Given the description of an element on the screen output the (x, y) to click on. 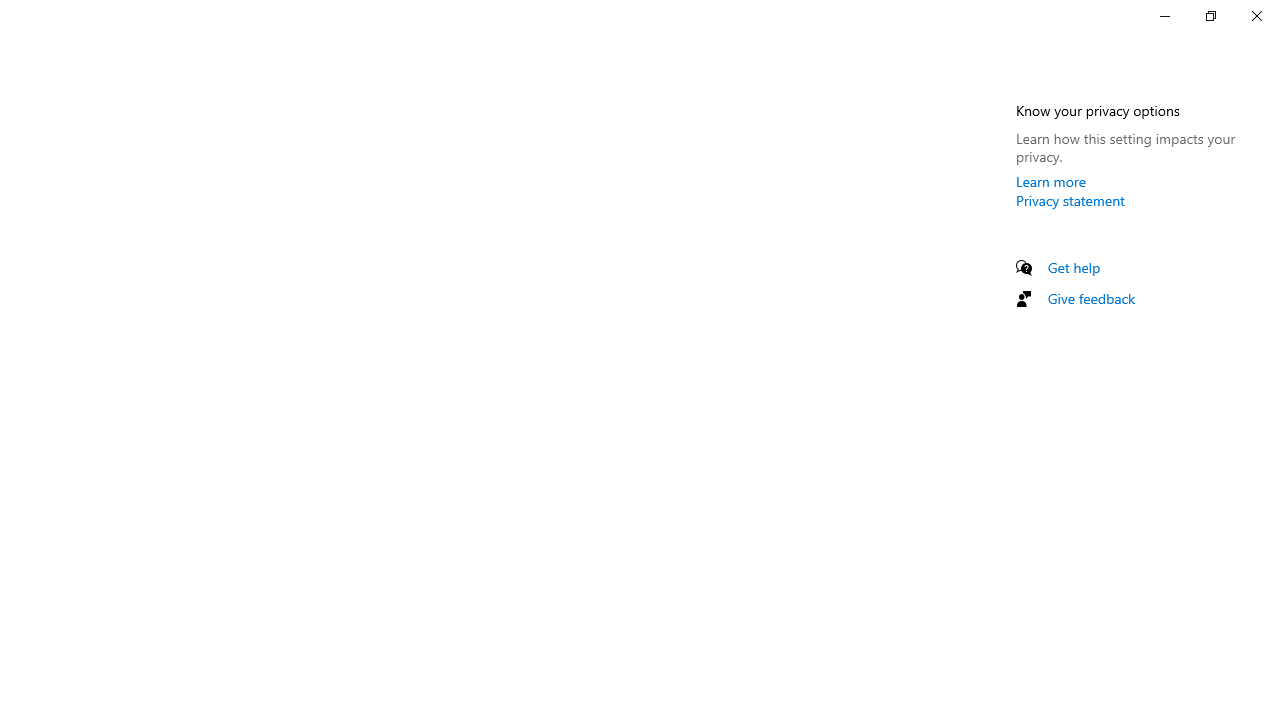
Privacy statement (1070, 200)
Learn more (1051, 181)
